Given the description of an element on the screen output the (x, y) to click on. 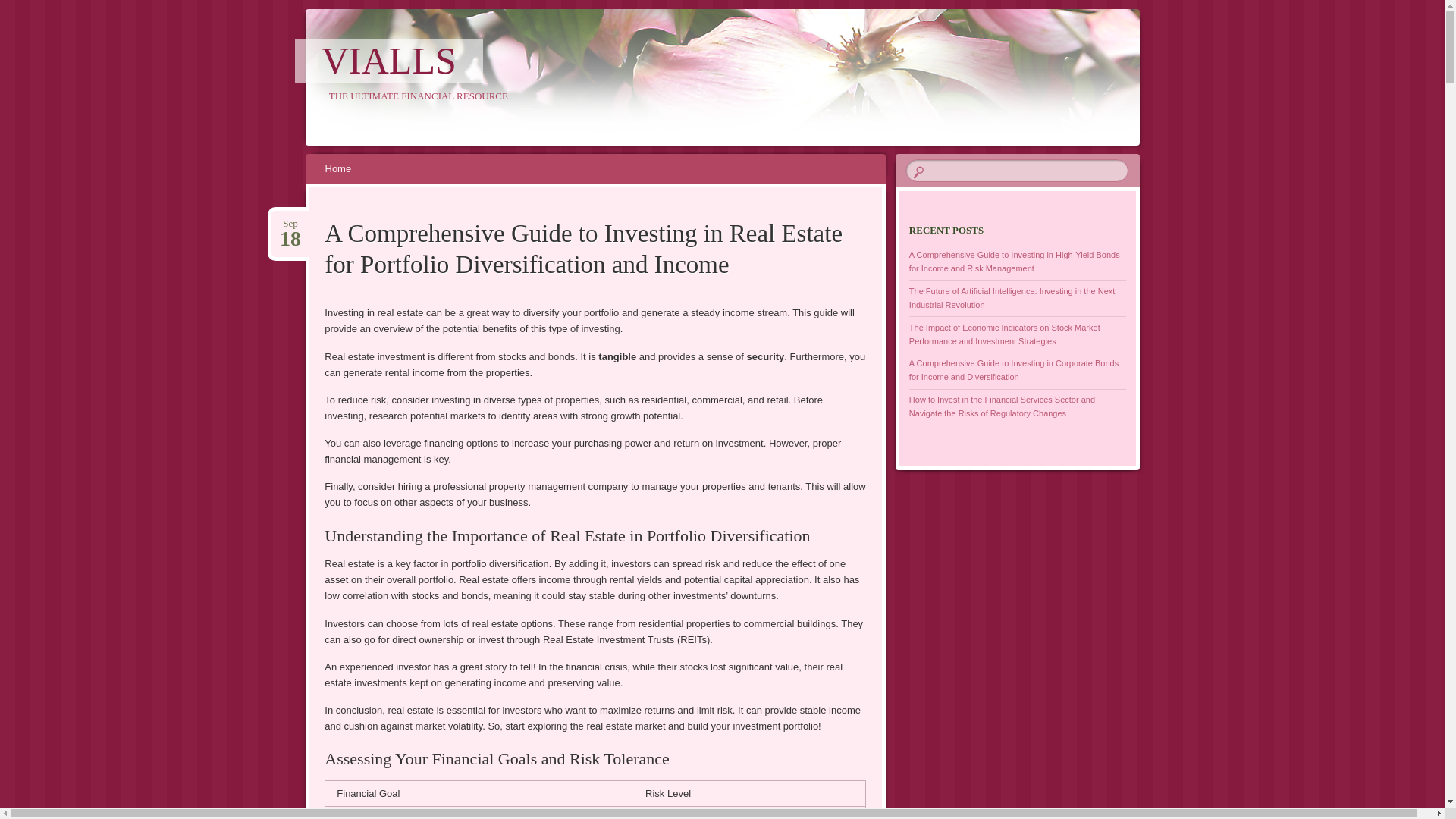
Search (21, 7)
VIALLS (389, 60)
Vialls (289, 223)
Home (389, 60)
